Given the description of an element on the screen output the (x, y) to click on. 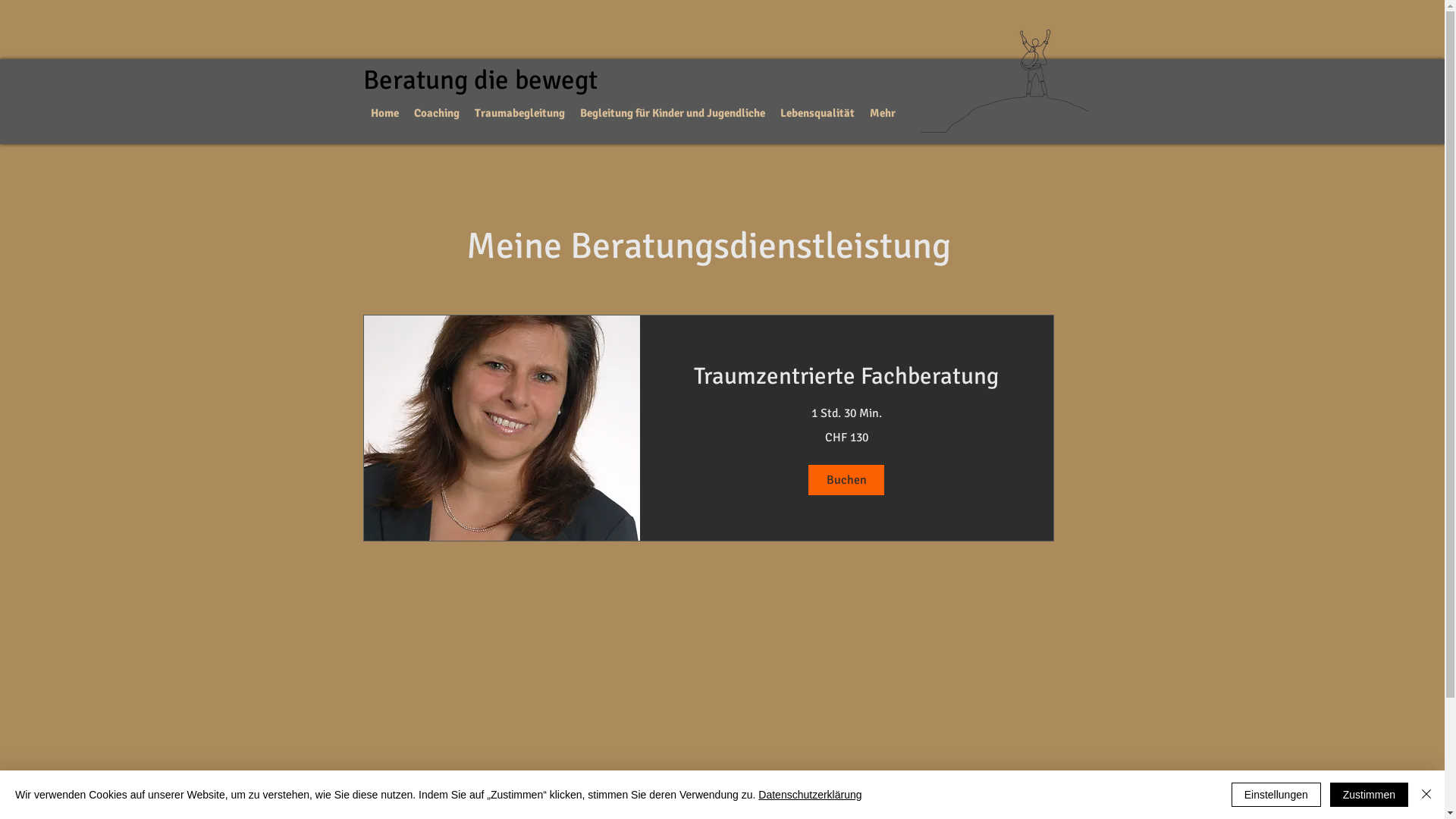
eratung die bewegt Element type: text (488, 79)
Einstellungen Element type: text (1276, 794)
Buchen Element type: text (846, 479)
Home Element type: text (384, 113)
Zustimmen Element type: text (1369, 794)
Traumzentrierte Fachberatung Element type: text (845, 376)
Traumabegleitung Element type: text (519, 113)
Coaching Element type: text (436, 113)
